Given the description of an element on the screen output the (x, y) to click on. 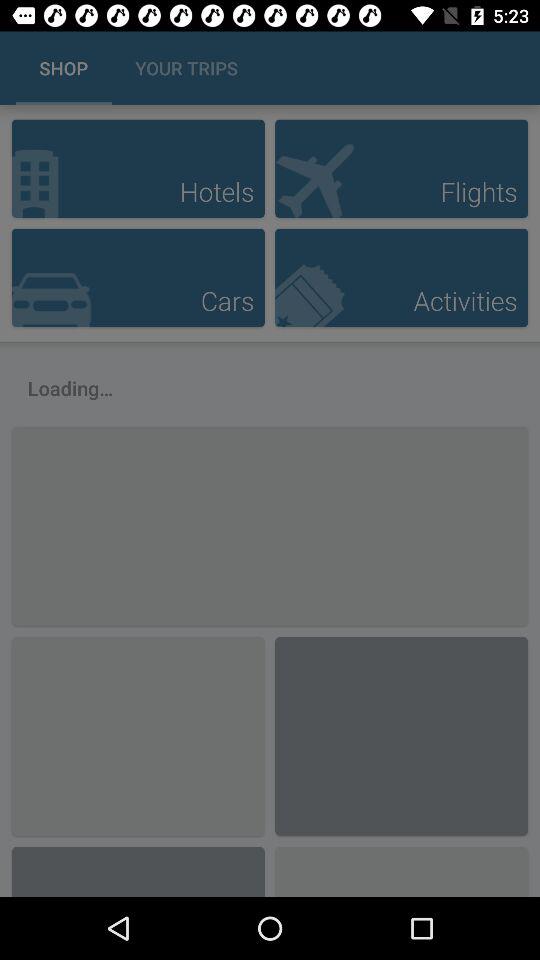
go to flights (401, 168)
